Given the description of an element on the screen output the (x, y) to click on. 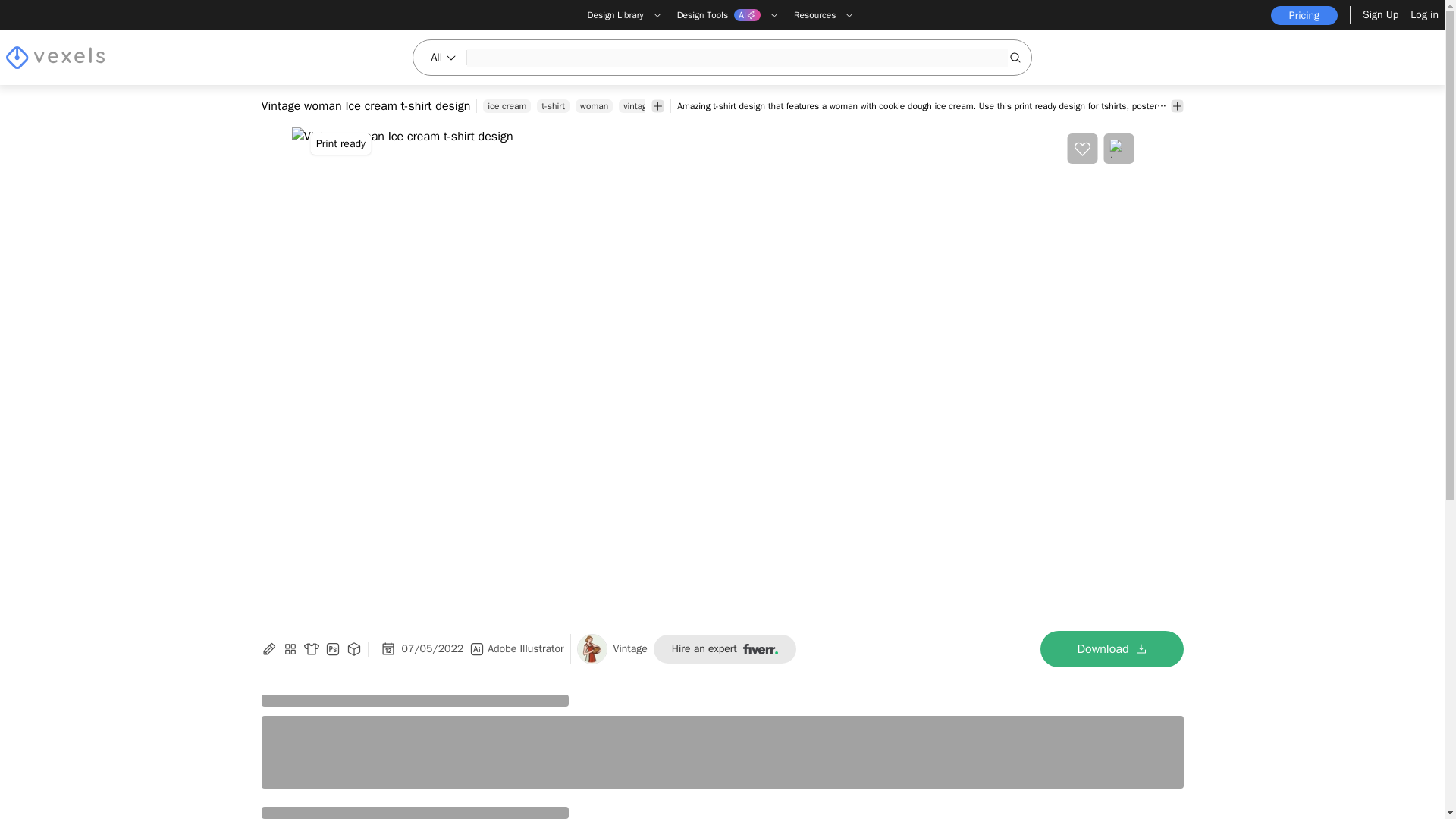
Pricing (1304, 15)
